Given the description of an element on the screen output the (x, y) to click on. 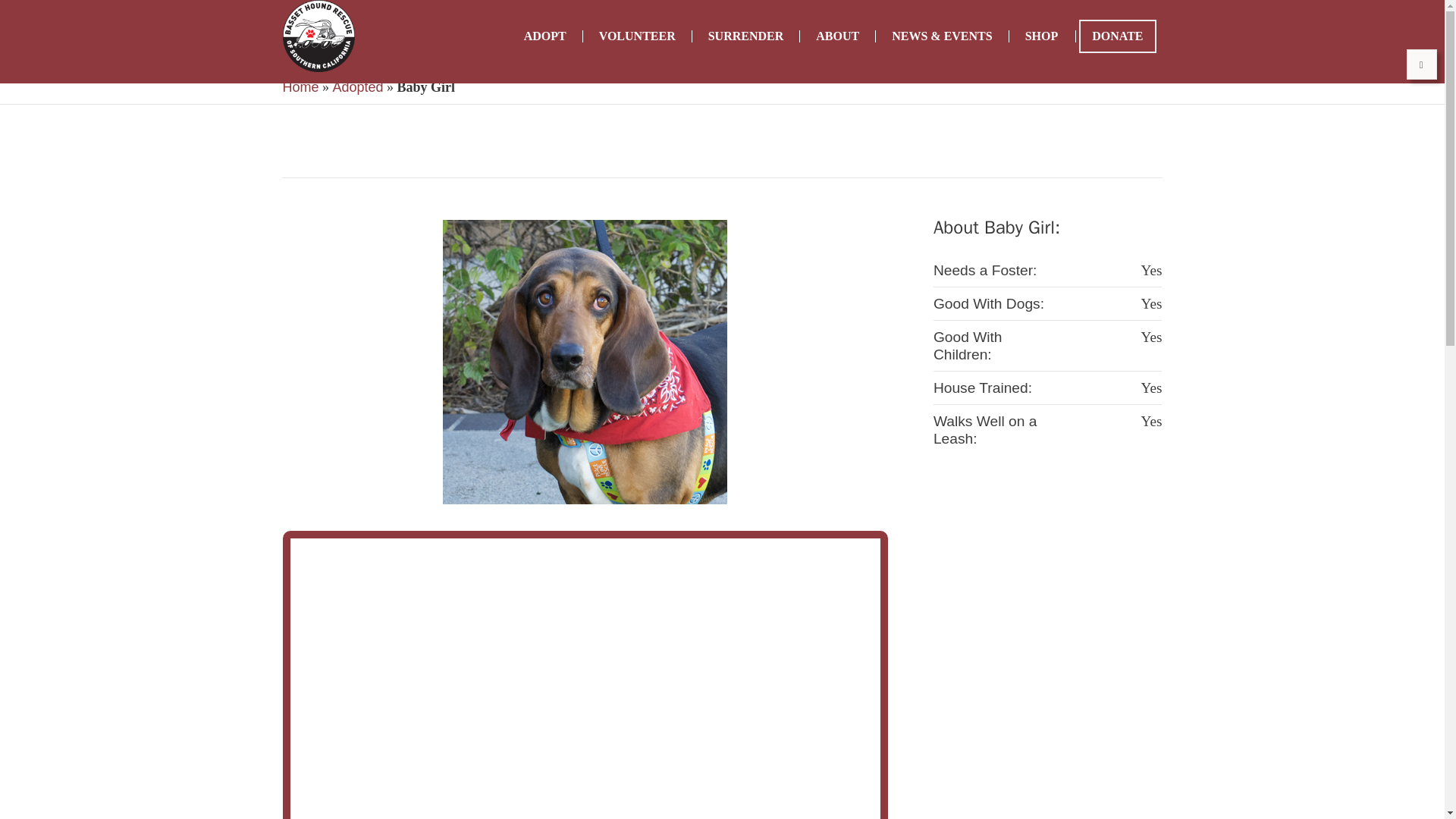
DONATE (1117, 36)
Home (300, 87)
ABOUT (837, 36)
VOLUNTEER (637, 36)
SURRENDER (745, 36)
Adopted (358, 87)
Baby Girl (584, 362)
ADOPT (545, 36)
SHOP (1041, 36)
